Given the description of an element on the screen output the (x, y) to click on. 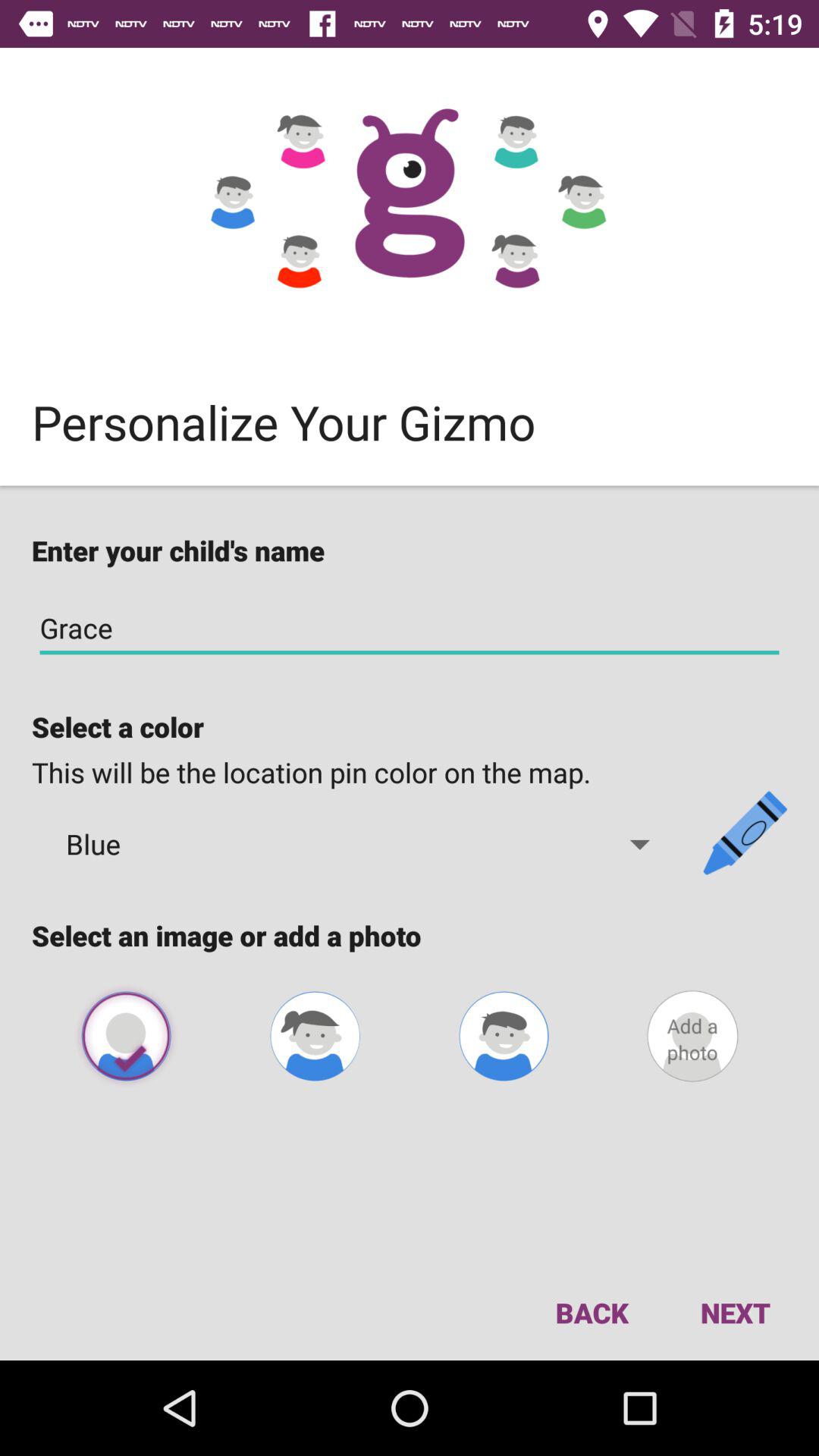
filter (503, 1036)
